Given the description of an element on the screen output the (x, y) to click on. 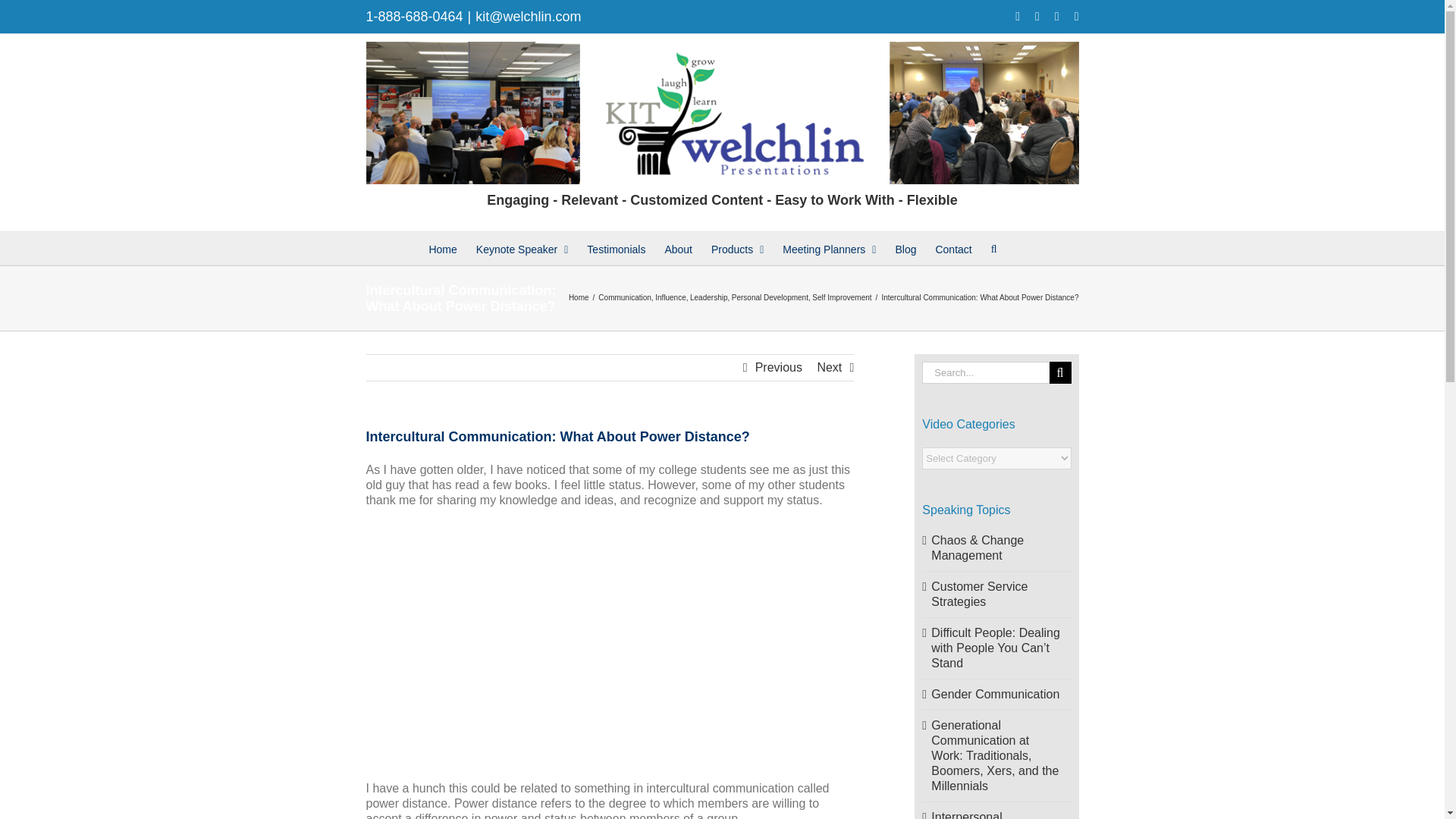
Leadership (708, 297)
Contact (952, 247)
Communication (624, 297)
Self Improvement (841, 297)
Testimonials (615, 247)
Previous (778, 367)
Influence (670, 297)
Personal Development (770, 297)
Next (828, 367)
Home (579, 297)
Meeting Planners (829, 247)
Keynote Speaker (522, 247)
Products (736, 247)
